Given the description of an element on the screen output the (x, y) to click on. 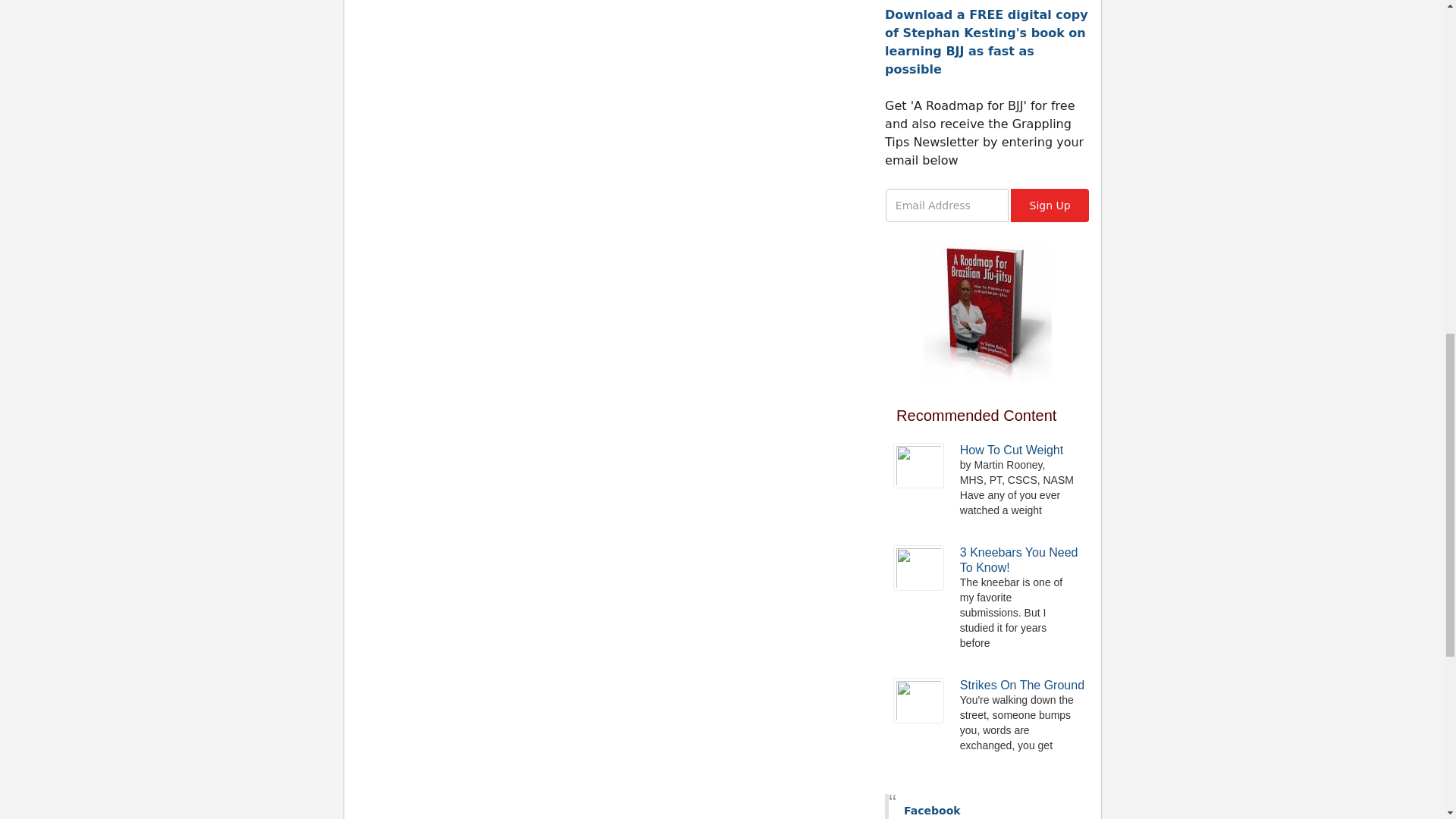
Sign Up (1048, 205)
